Given the description of an element on the screen output the (x, y) to click on. 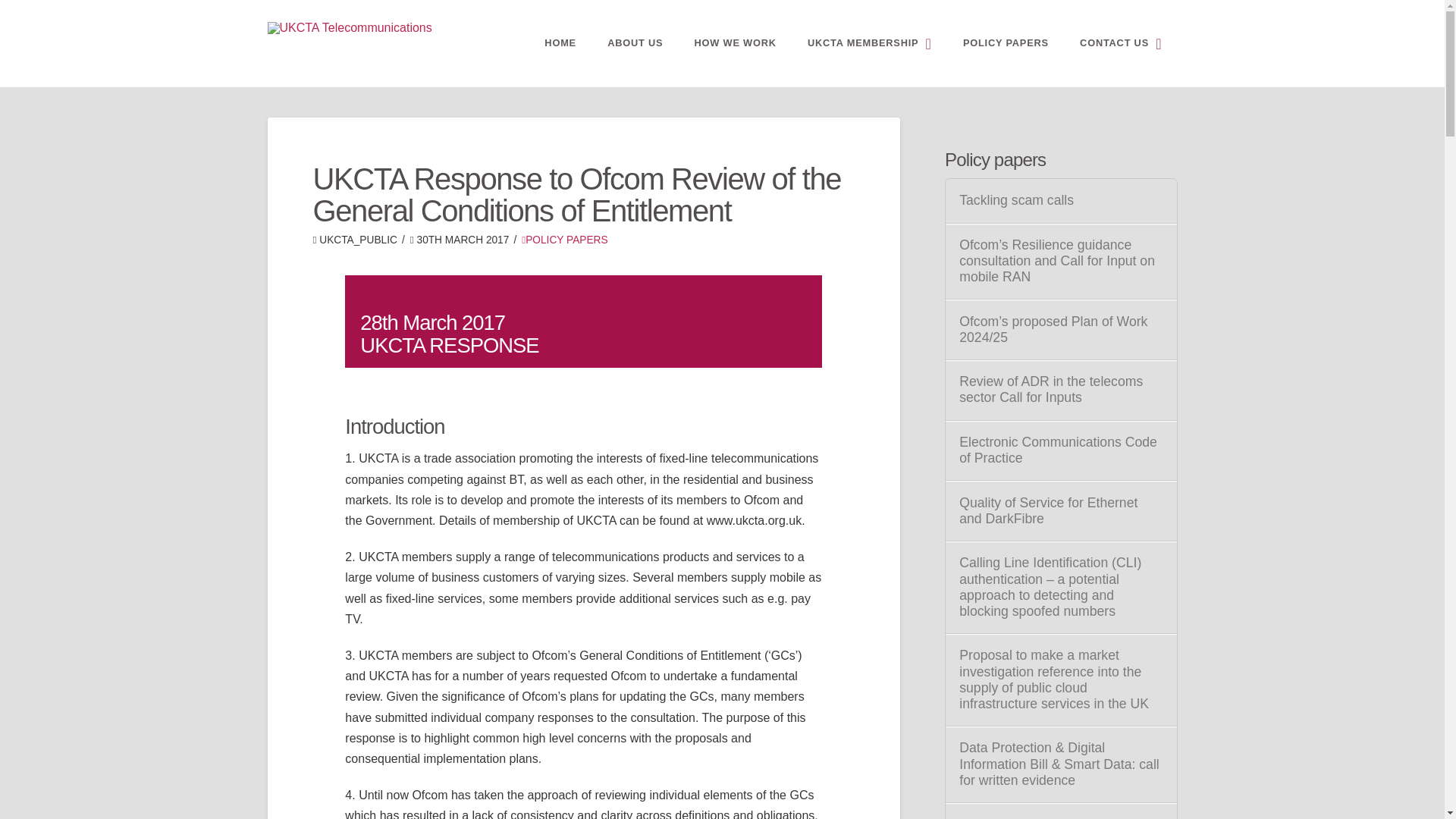
POLICY PAPERS (1005, 43)
HOW WE WORK (735, 43)
POLICY PAPERS (564, 239)
UKCTA Response to Phone-Paid Service Authority (1060, 817)
Quality of Service for Ethernet and DarkFibre (1060, 511)
Electronic Communications Code of Practice (1060, 450)
CONTACT US (1120, 43)
ABOUT US (634, 43)
UKCTA MEMBERSHIP (869, 43)
Tackling scam calls (1060, 200)
Review of ADR in the telecoms sector Call for Inputs (1060, 389)
